Given the description of an element on the screen output the (x, y) to click on. 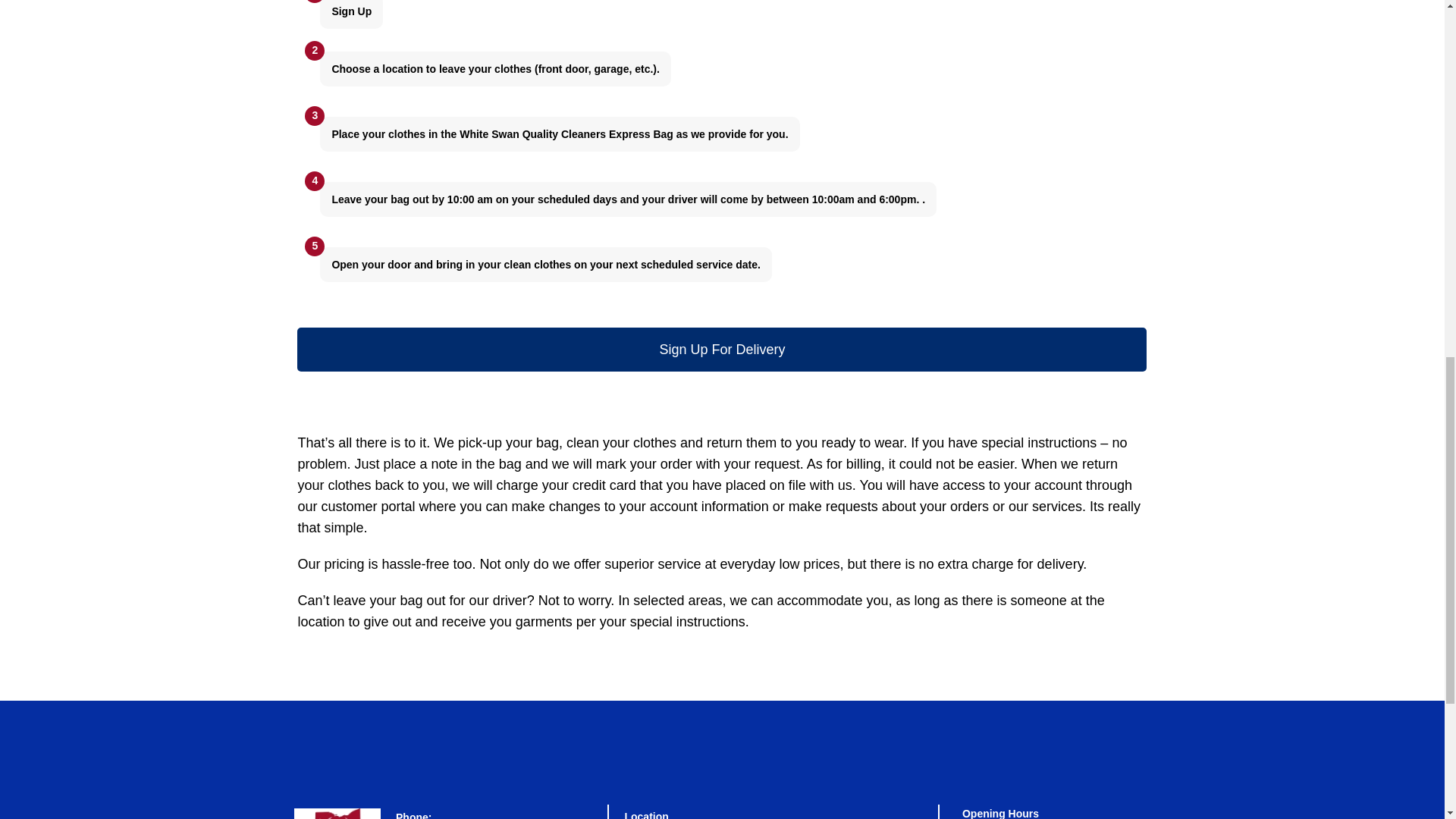
Sign Up For Delivery (722, 349)
